Given the description of an element on the screen output the (x, y) to click on. 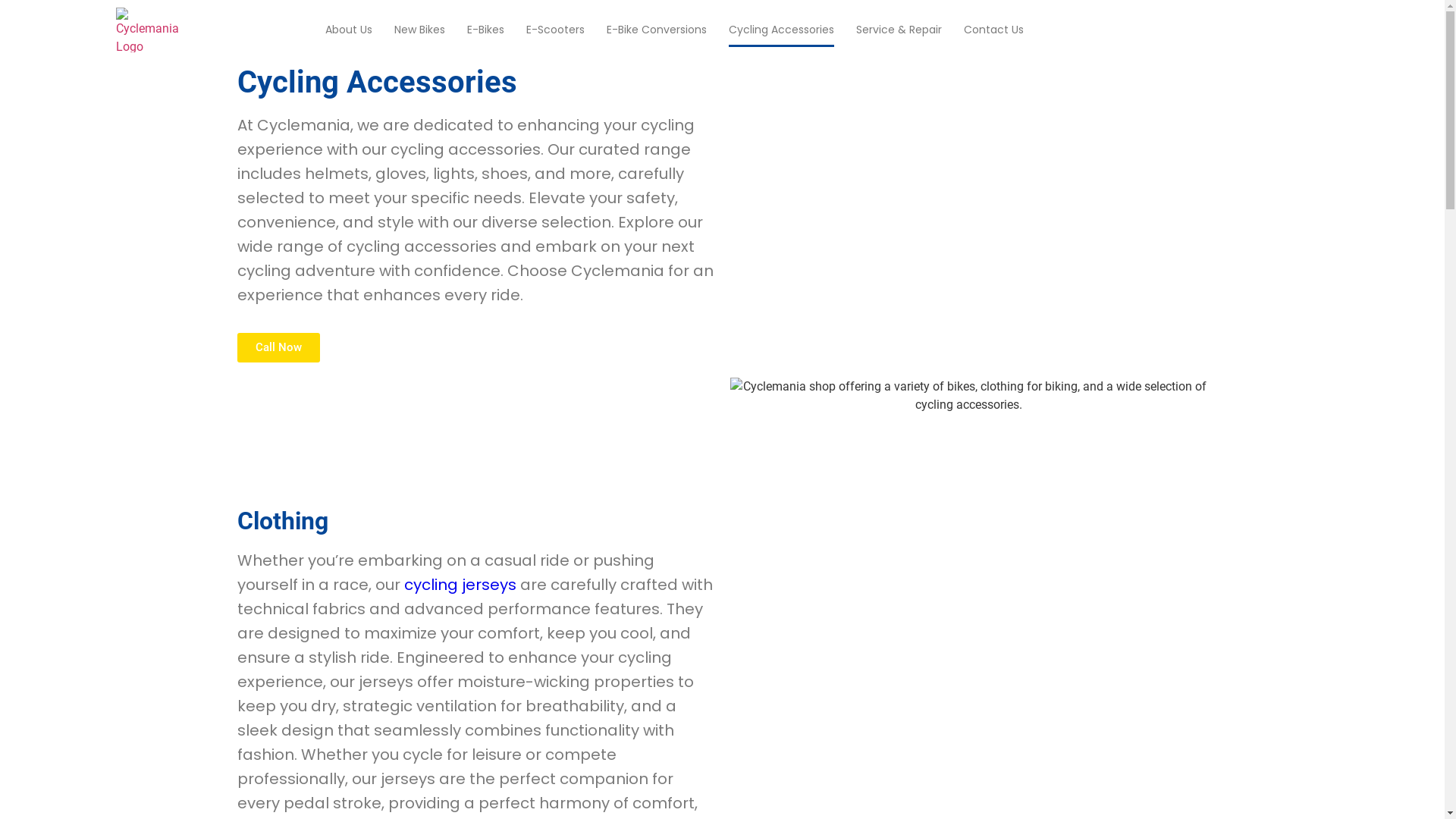
Cycling Accessories Element type: text (781, 29)
cycling jerseys Element type: text (459, 584)
Service & Repair Element type: text (898, 29)
E-Bike Conversions Element type: text (656, 29)
Call Now Element type: text (277, 347)
Contact Us Element type: text (993, 29)
E-Scooters Element type: text (555, 29)
E-Bikes Element type: text (485, 29)
New Bikes Element type: text (419, 29)
About Us Element type: text (348, 29)
